Given the description of an element on the screen output the (x, y) to click on. 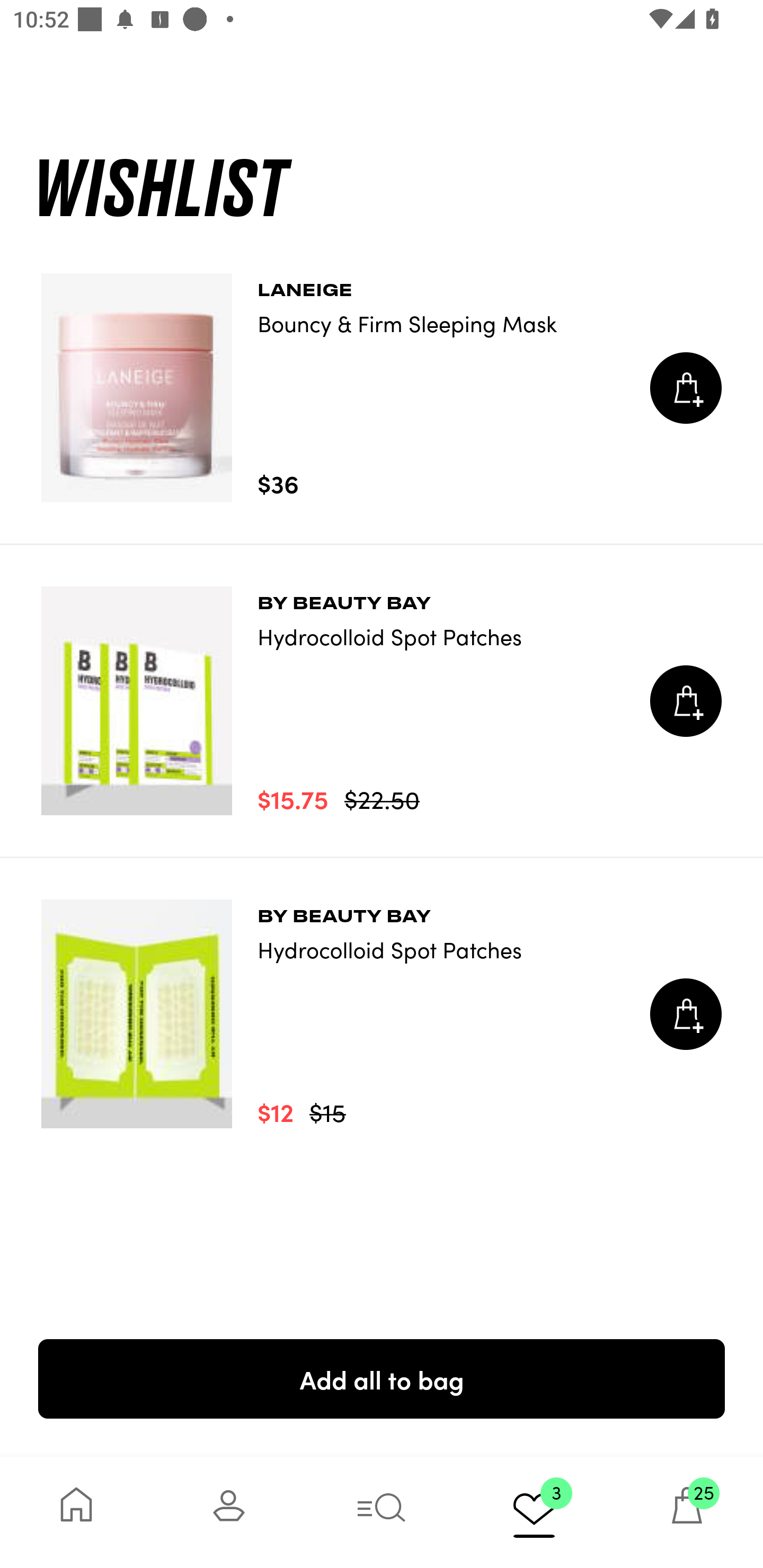
LANEIGE Bouncy & Firm Sleeping Mask $36 (381, 388)
BY BEAUTY BAY Hydrocolloid Spot Patches $12 $15 (381, 1013)
Add all to bag (381, 1379)
3 (533, 1512)
25 (686, 1512)
